Given the description of an element on the screen output the (x, y) to click on. 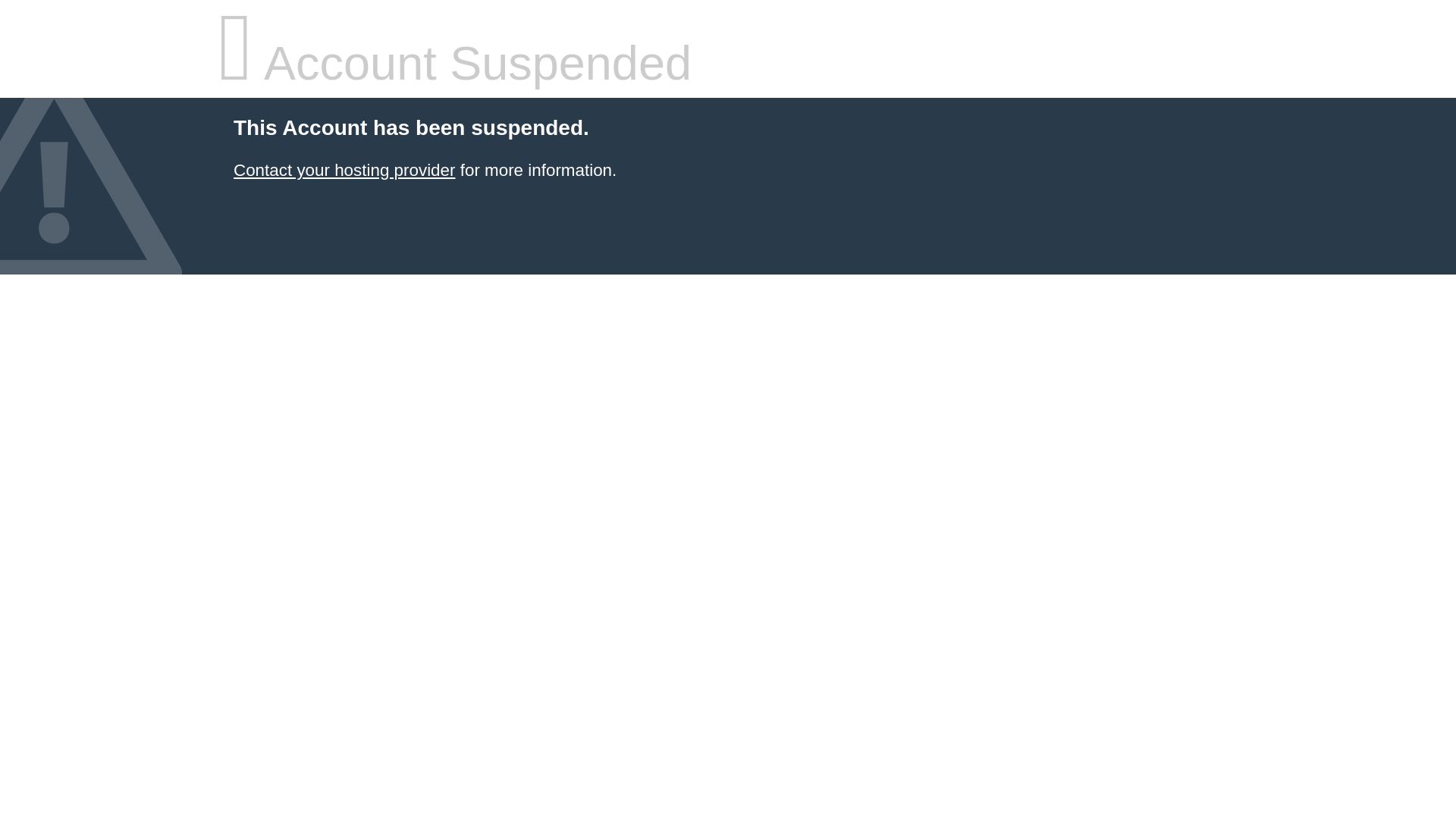
Contact your hosting provider (343, 169)
